Given the description of an element on the screen output the (x, y) to click on. 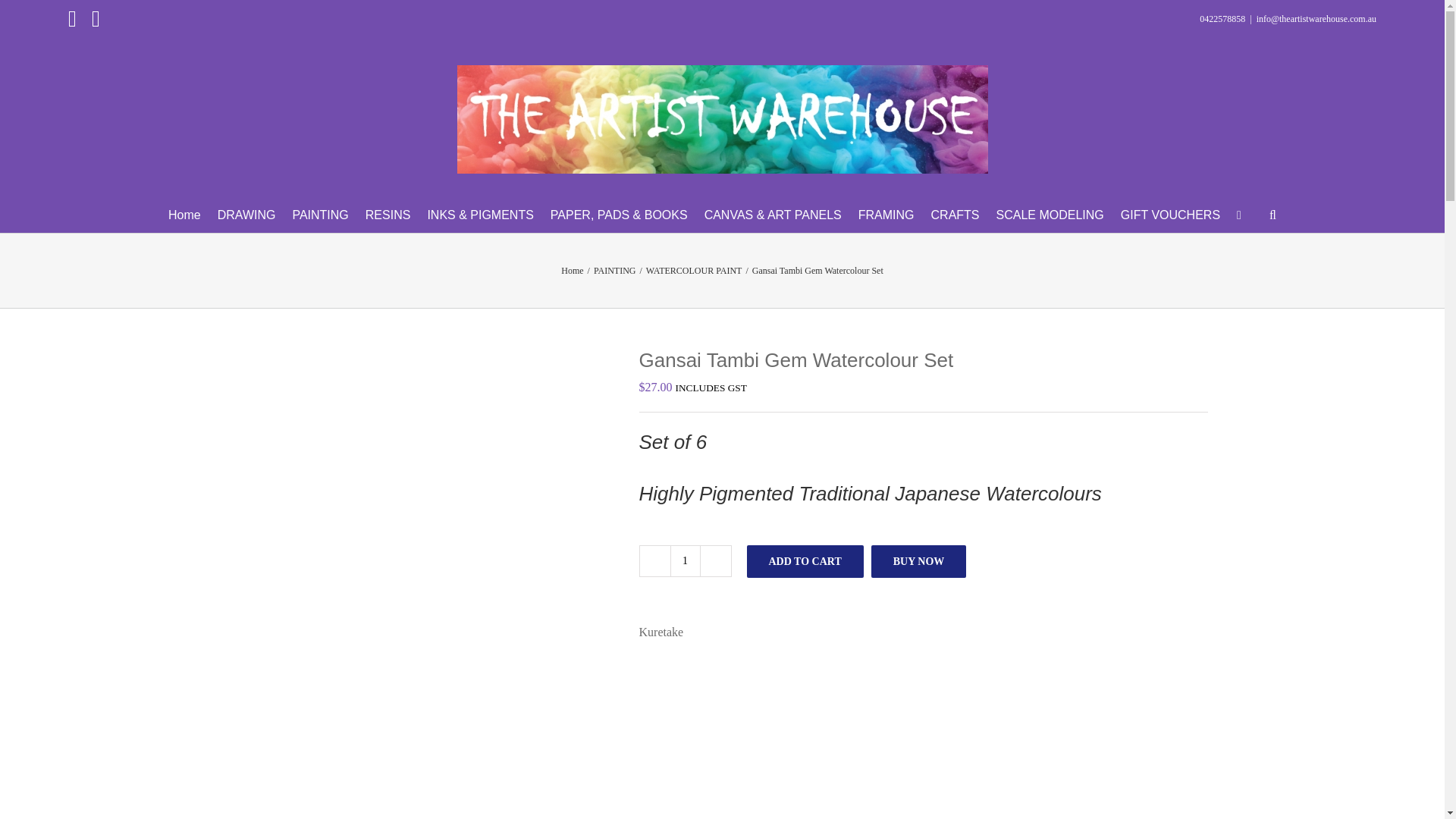
1 (684, 561)
View brand (660, 632)
0422578858 (1221, 18)
Home (184, 214)
DRAWING (246, 214)
PAINTING (319, 214)
RESINS (387, 214)
